Given the description of an element on the screen output the (x, y) to click on. 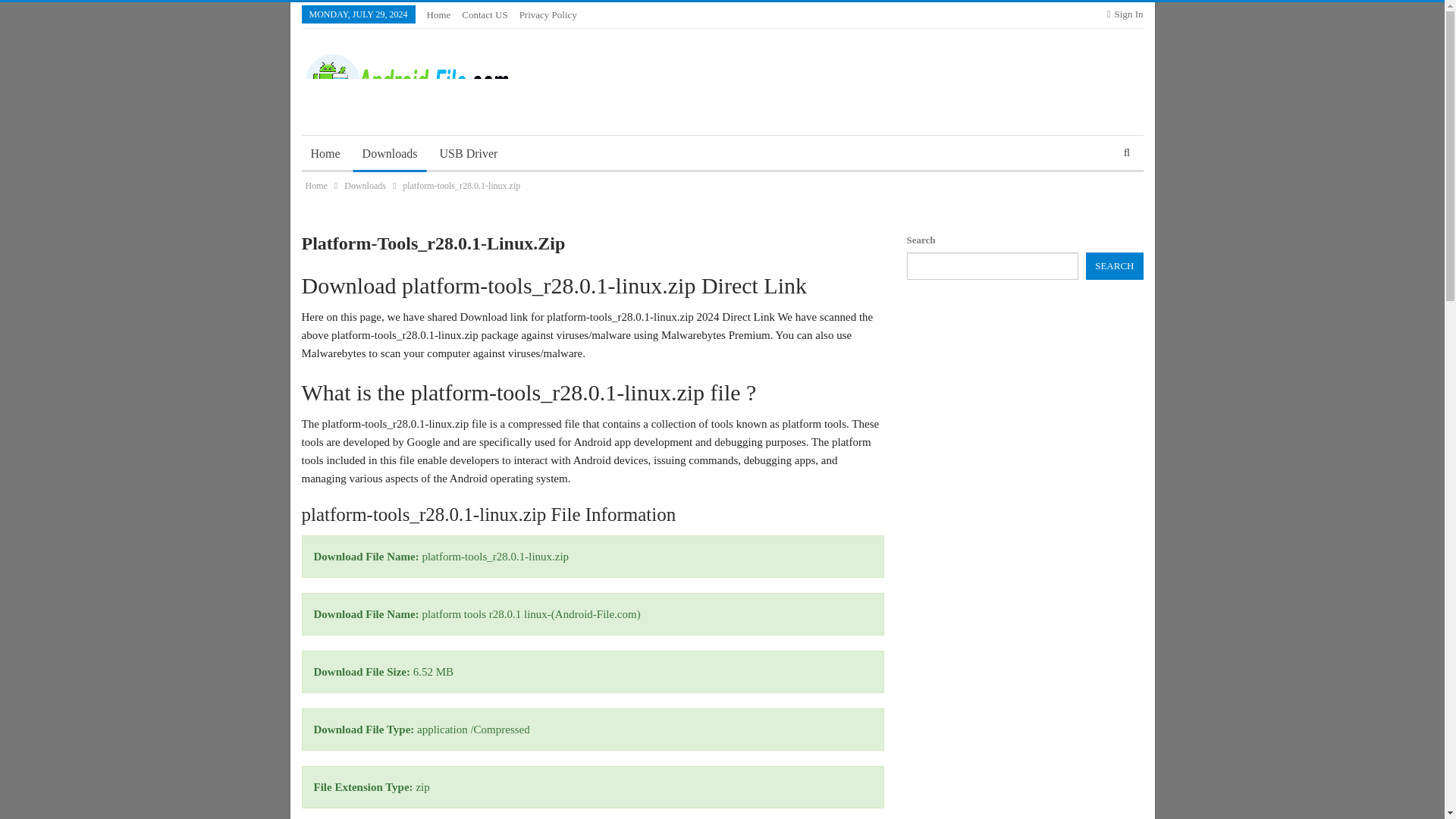
Home (325, 153)
USB Driver (468, 153)
Downloads (389, 153)
Contact US (483, 14)
SEARCH (1114, 266)
Home (315, 185)
Home (438, 14)
Sign In (1124, 13)
Downloads (364, 185)
Privacy Policy (547, 14)
